Given the description of an element on the screen output the (x, y) to click on. 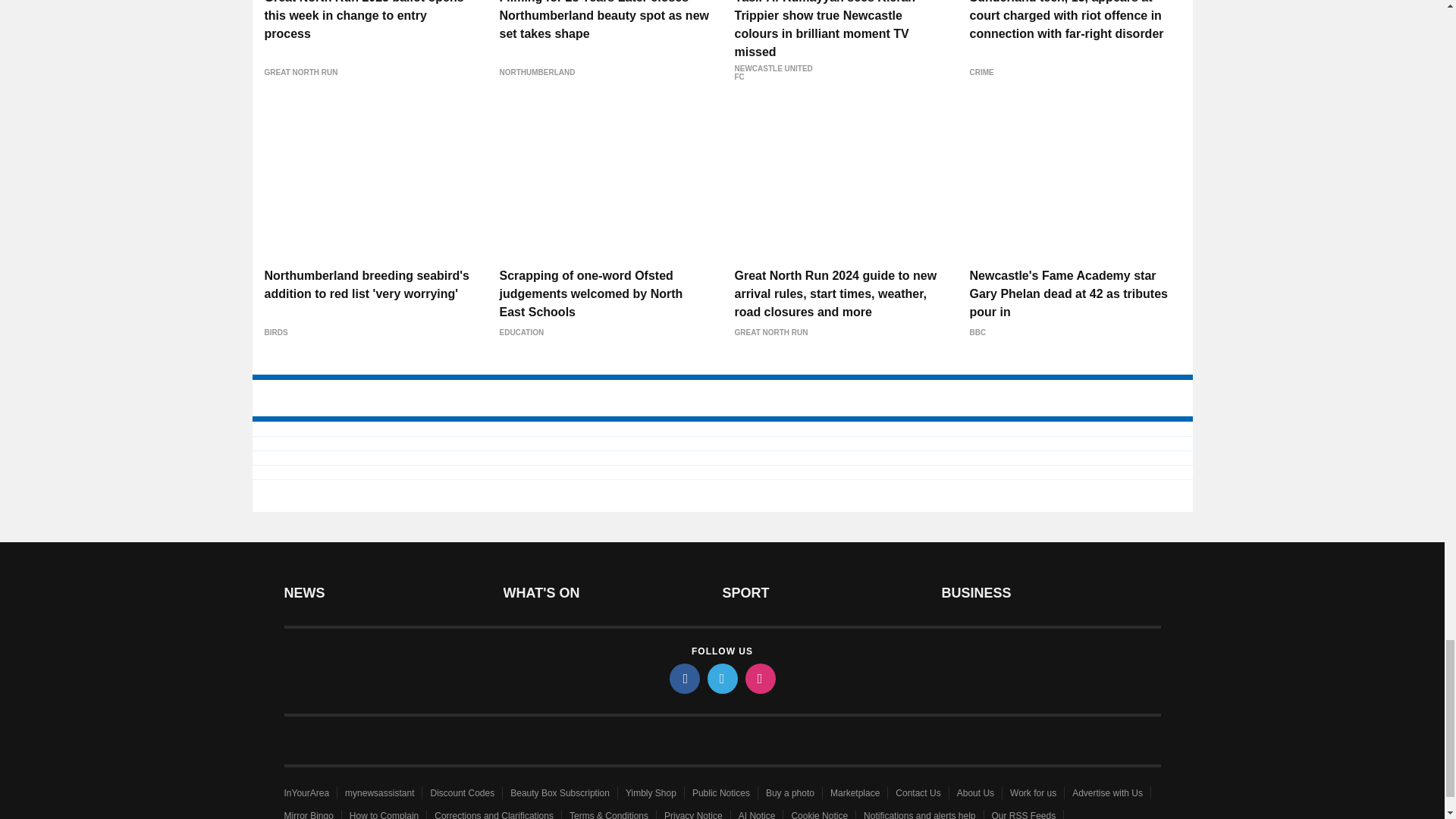
instagram (759, 678)
facebook (683, 678)
twitter (721, 678)
